Given the description of an element on the screen output the (x, y) to click on. 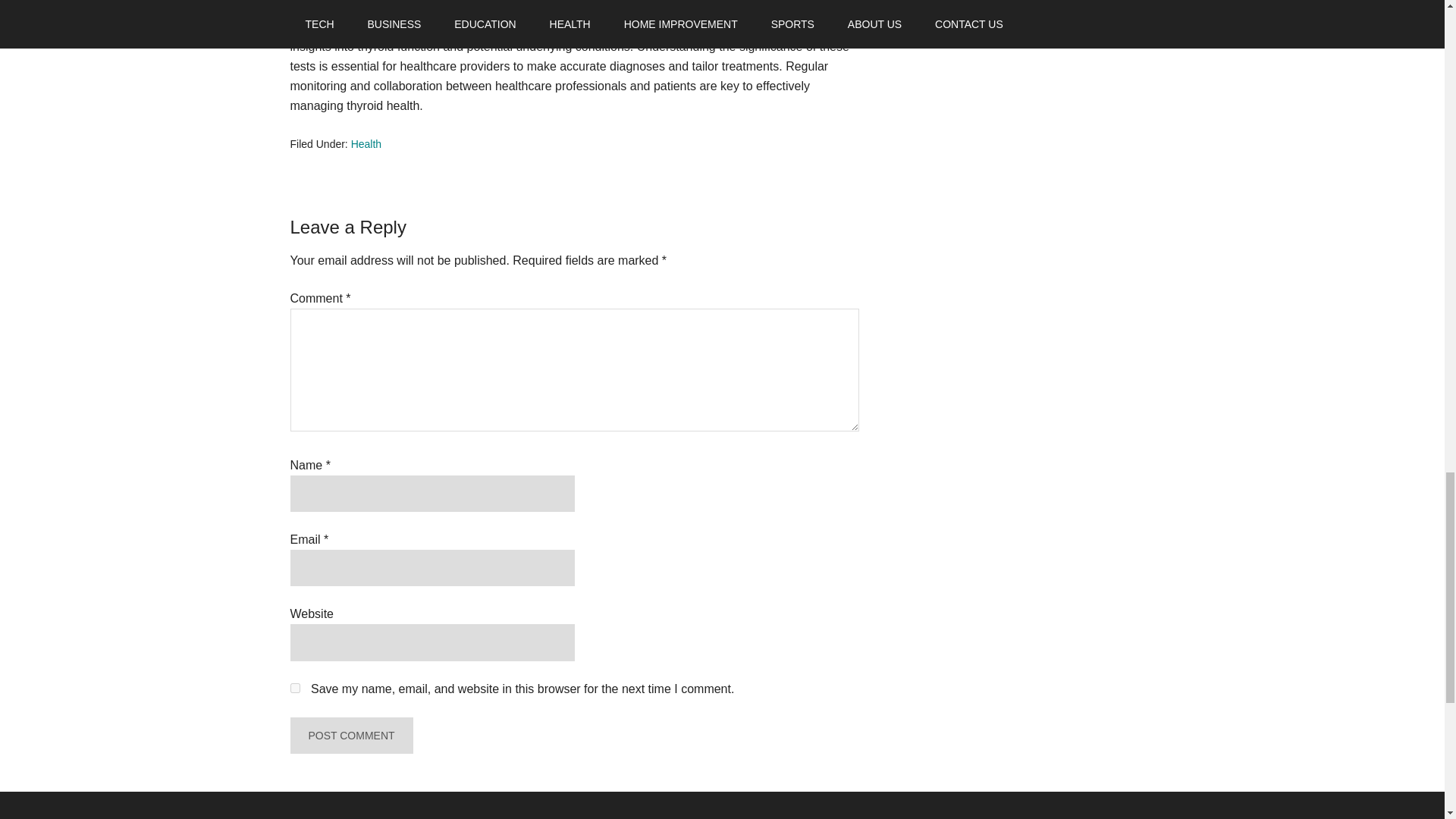
Post Comment (350, 735)
yes (294, 687)
Health (365, 143)
Post Comment (350, 735)
